Given the description of an element on the screen output the (x, y) to click on. 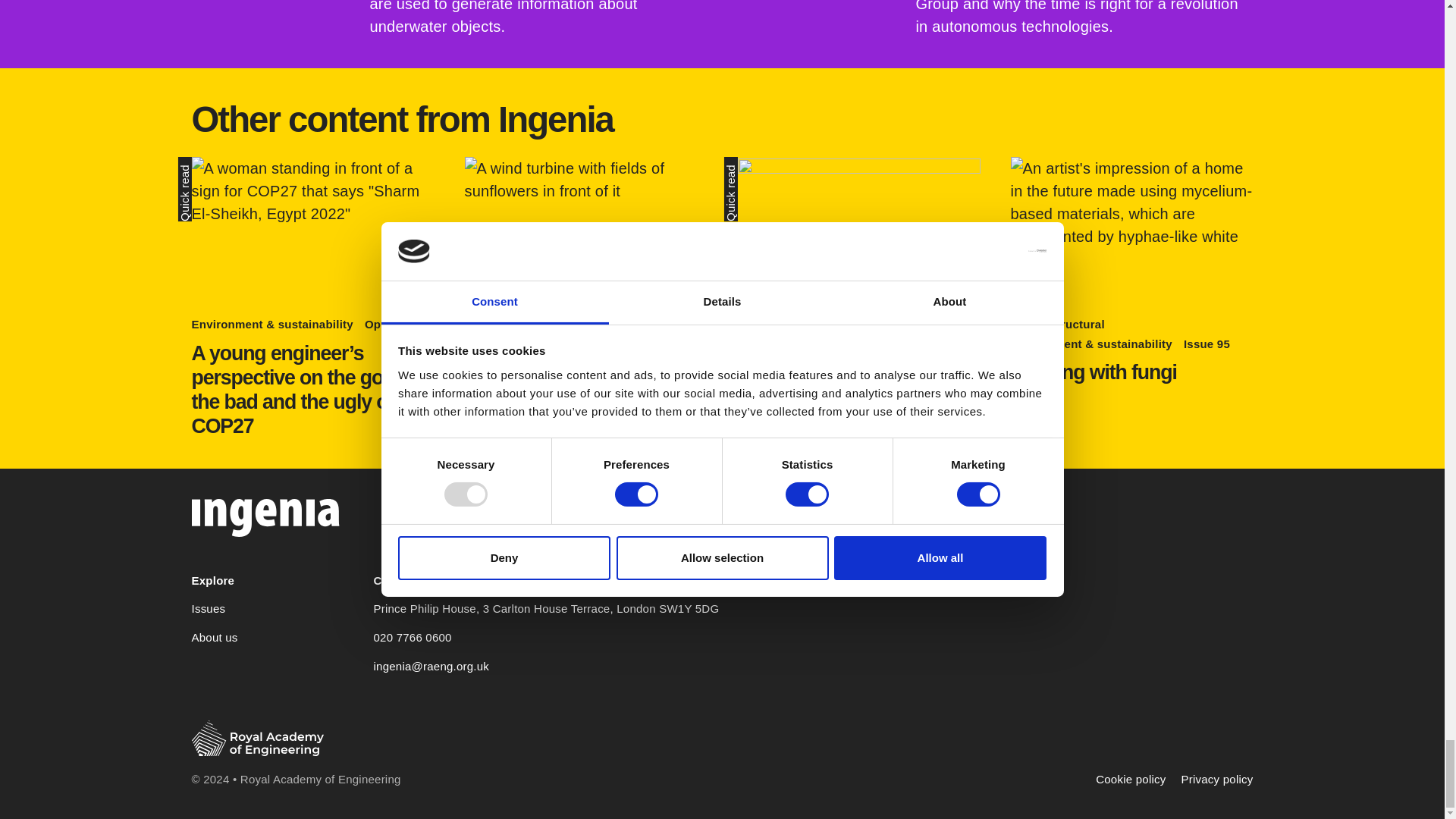
Home (264, 512)
